Given the description of an element on the screen output the (x, y) to click on. 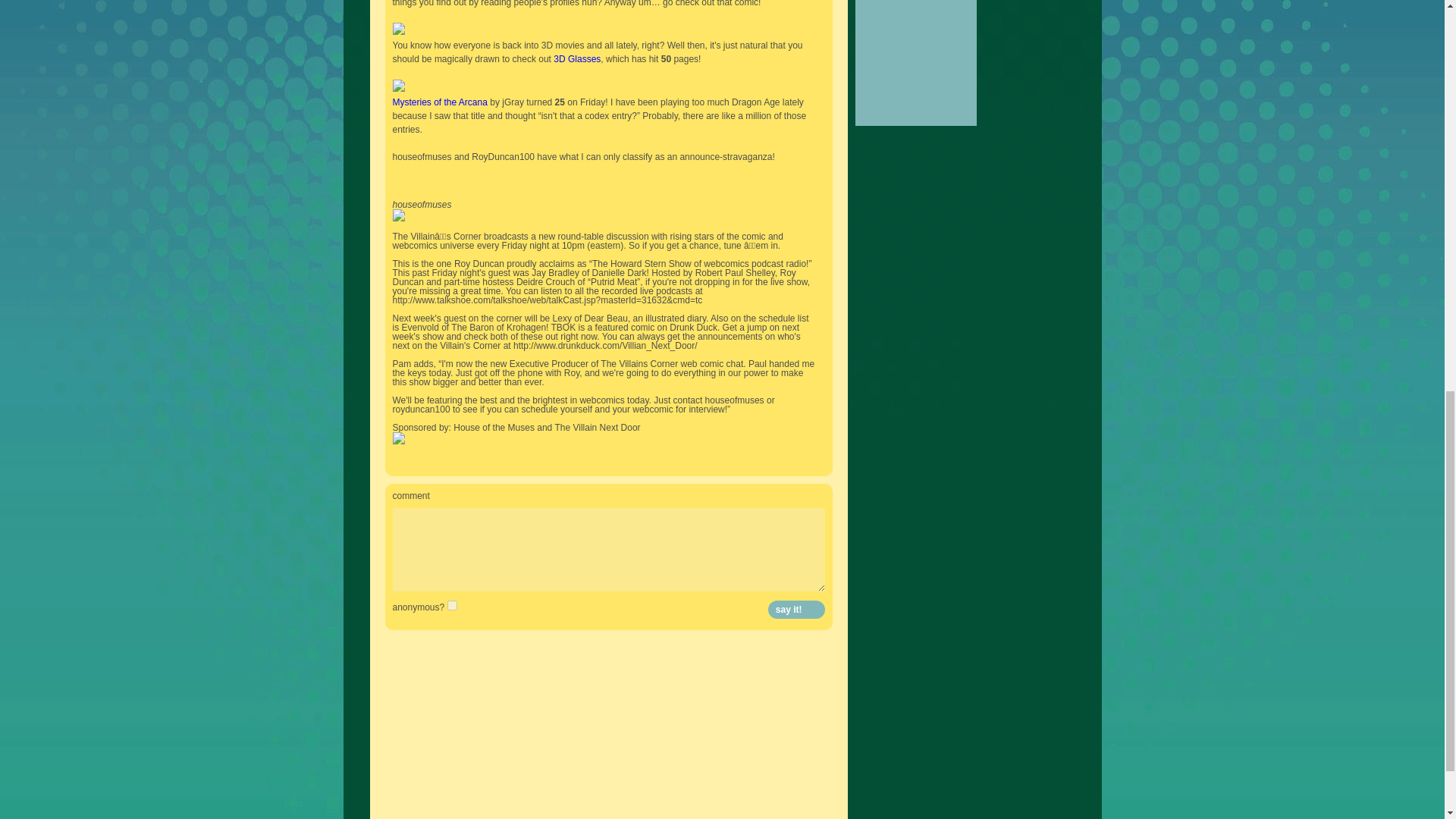
say it! (796, 609)
1 (451, 605)
say it! (796, 609)
3D Glasses (576, 59)
Mysteries of the Arcana (440, 102)
